Given the description of an element on the screen output the (x, y) to click on. 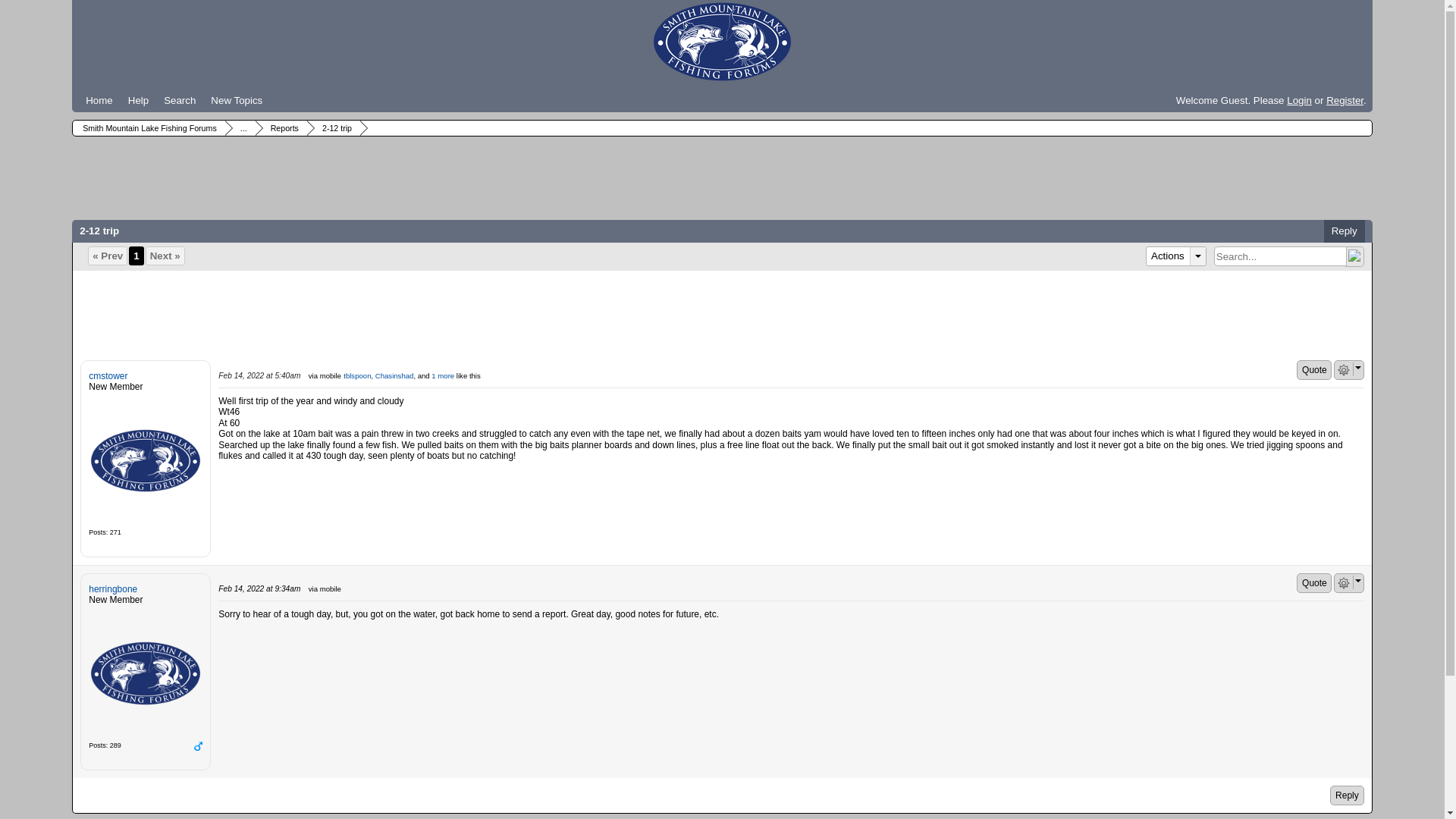
Smith Mountain Lake Fishing Forums  (721, 41)
Login (1299, 100)
cmstower (145, 459)
Post Options (1343, 369)
Help (137, 100)
Striped Bass - General Discussion and Reports (241, 127)
2-12 trip (335, 127)
... (241, 127)
Register (1344, 100)
Reports (282, 127)
